Given the description of an element on the screen output the (x, y) to click on. 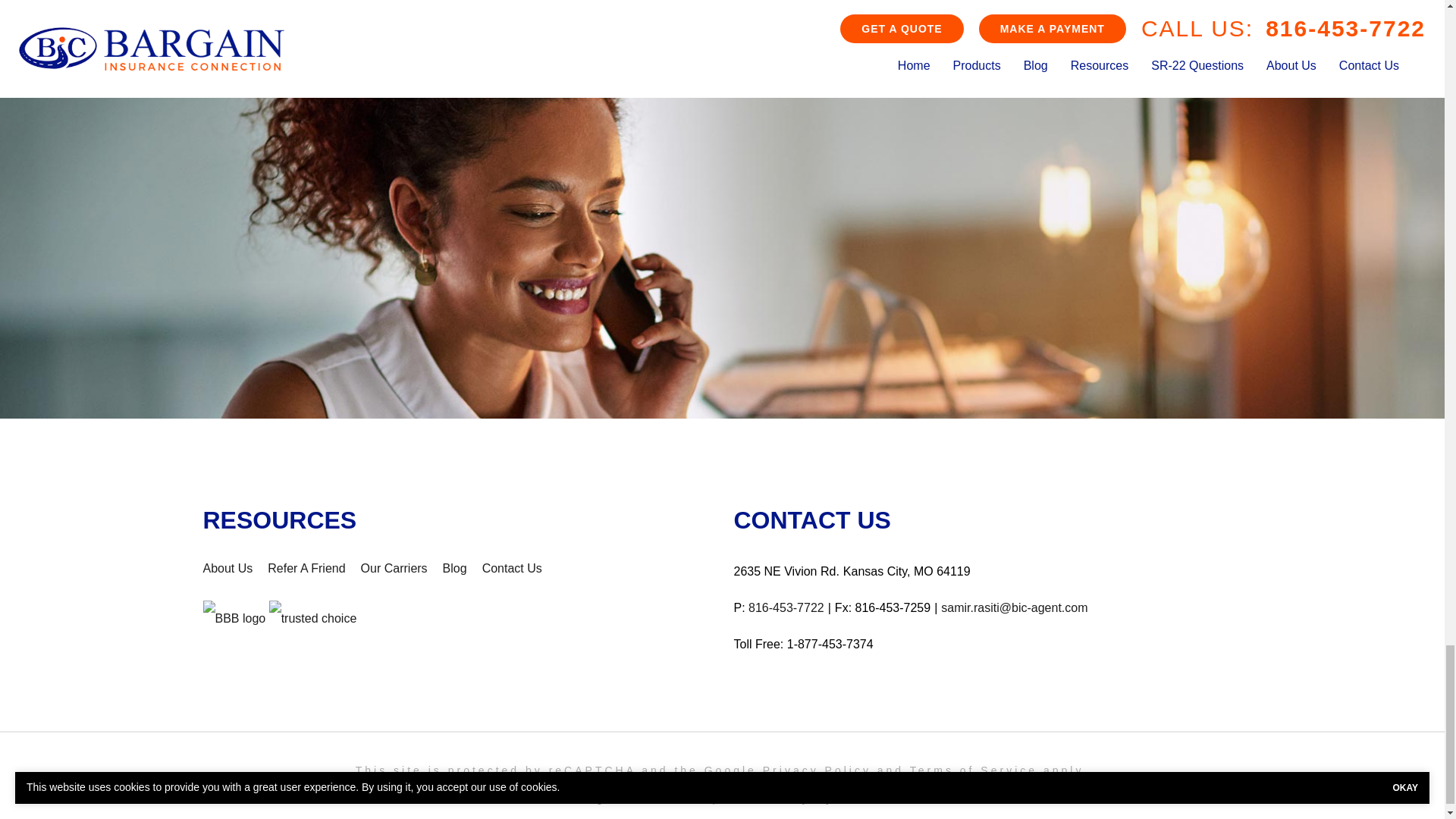
Insurance Website Builder (880, 798)
